Given the description of an element on the screen output the (x, y) to click on. 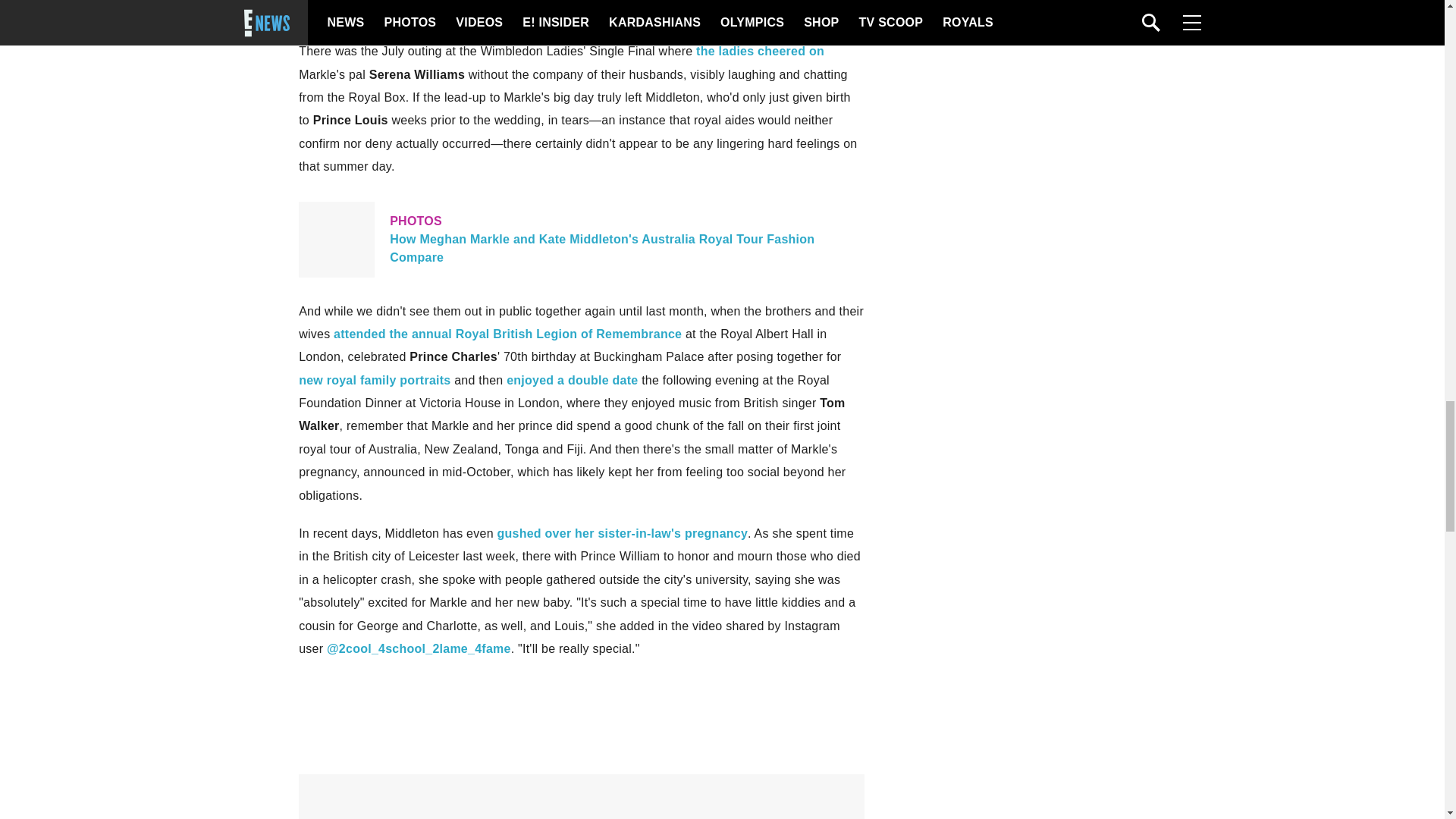
attended the annual Royal British Legion of Remembrance (507, 333)
the ladies cheered on (759, 51)
new royal family portraits (373, 379)
